Given the description of an element on the screen output the (x, y) to click on. 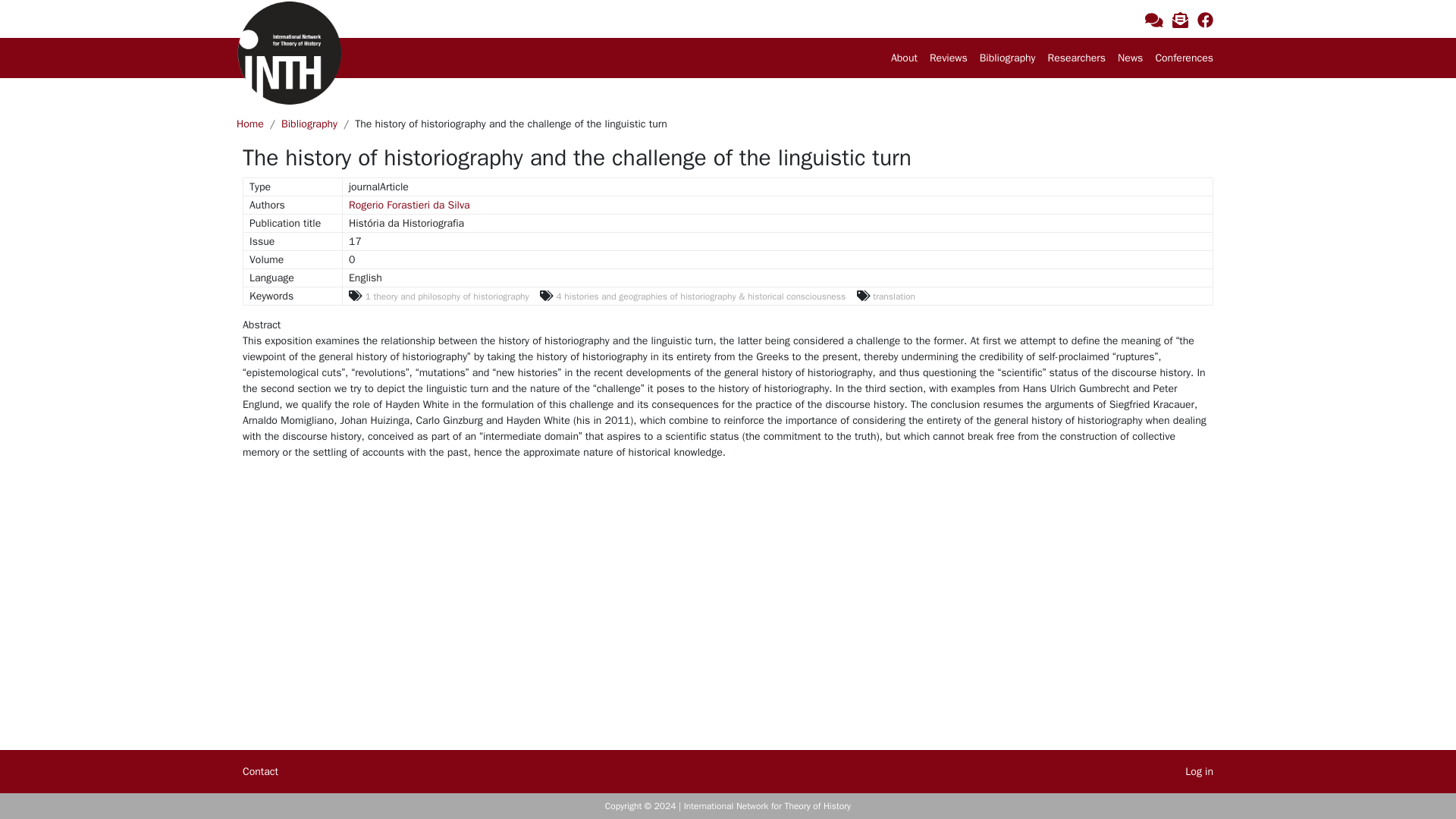
Home (249, 123)
translation (885, 296)
Contact (259, 771)
Skip to main content (53, 9)
Home (288, 53)
Log in (1199, 771)
Rogerio Forastieri da Silva (409, 205)
Reviews (948, 58)
1 theory and philosophy of historiography (439, 296)
Researchers (1077, 58)
Facebook (1204, 19)
Bibliography (309, 123)
News (1130, 58)
Contact (1153, 19)
About (904, 58)
